Given the description of an element on the screen output the (x, y) to click on. 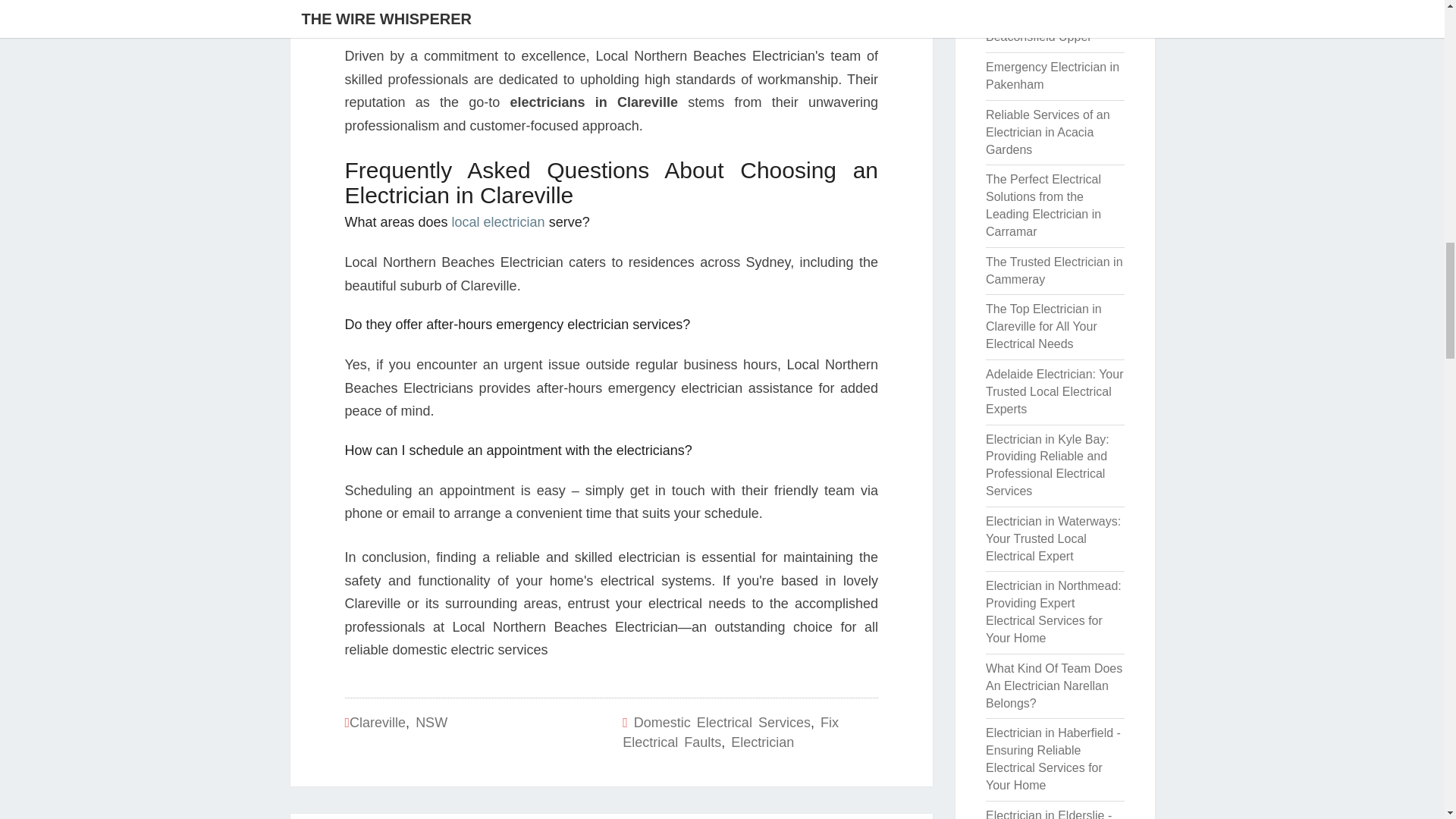
Fix Electrical Faults (730, 732)
Domestic Electrical Services (721, 722)
NSW (430, 722)
The Trusted Electrician in Cammeray (1053, 270)
Clareville (377, 722)
The Dependable Electrician in Beaconsfield Upper (1038, 22)
Emergency Electrician in Pakenham (1052, 75)
local electrician (497, 222)
Adelaide Electrician: Your Trusted Local Electrical Experts (1053, 391)
Electrician (761, 742)
Reliable Services of an Electrician in Acacia Gardens (1047, 132)
